Given the description of an element on the screen output the (x, y) to click on. 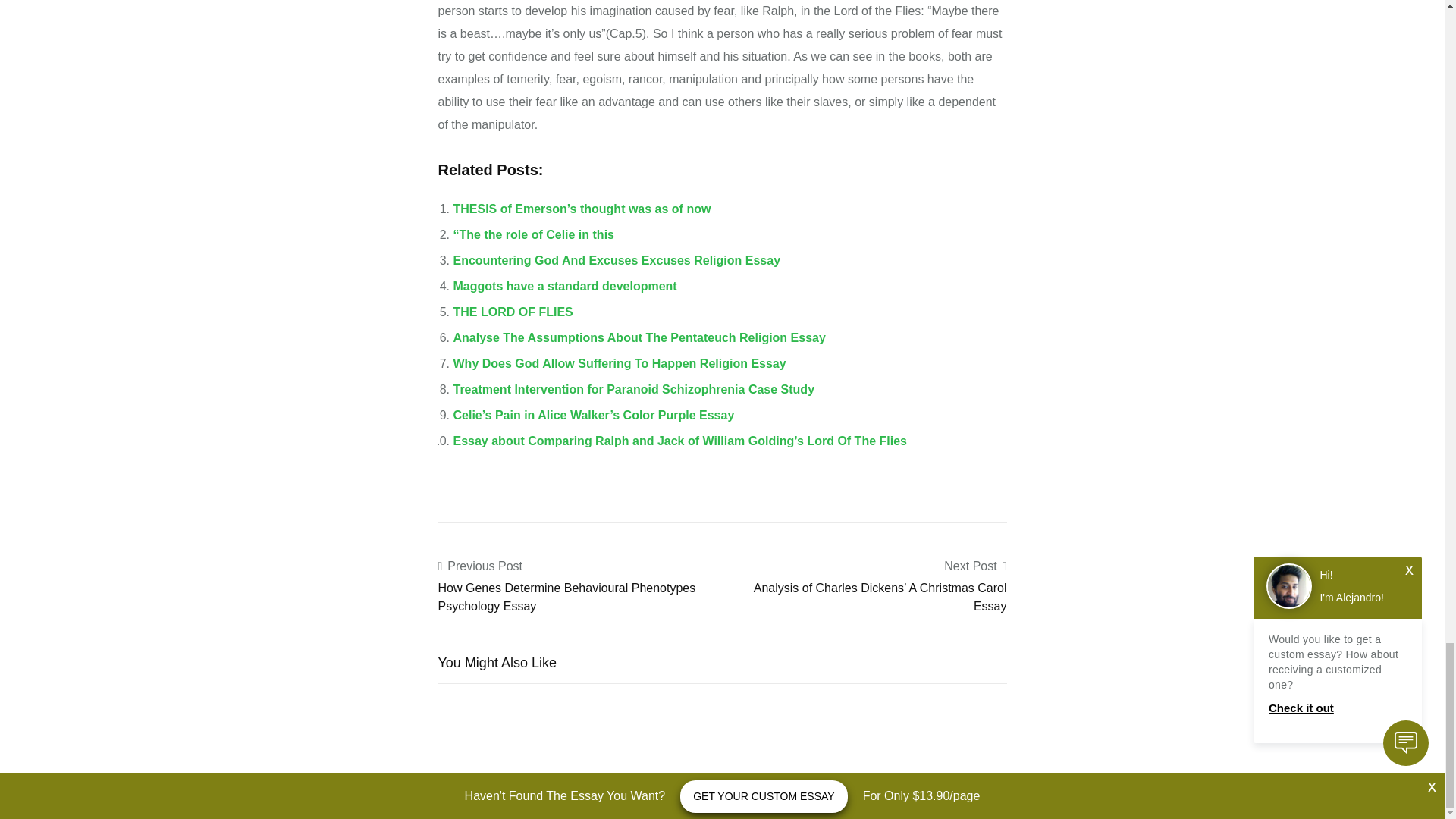
How Genes Determine Behavioural Phenotypes Psychology Essay (566, 596)
Analyse The Assumptions About The Pentateuch Religion Essay (638, 337)
Maggots have a standard development (564, 286)
THE LORD OF FLIES (512, 311)
Analyse The Assumptions About The Pentateuch Religion Essay (638, 337)
Treatment Intervention for Paranoid Schizophrenia Case Study (633, 389)
Maggots have a standard development (564, 286)
THE LORD OF FLIES (512, 311)
Treatment Intervention for Paranoid Schizophrenia Case Study (633, 389)
Why Does God Allow Suffering To Happen Religion Essay (619, 363)
Why Does God Allow Suffering To Happen Religion Essay (619, 363)
Encountering God And Excuses Excuses Religion Essay (616, 259)
Encountering God And Excuses Excuses Religion Essay (616, 259)
